Given the description of an element on the screen output the (x, y) to click on. 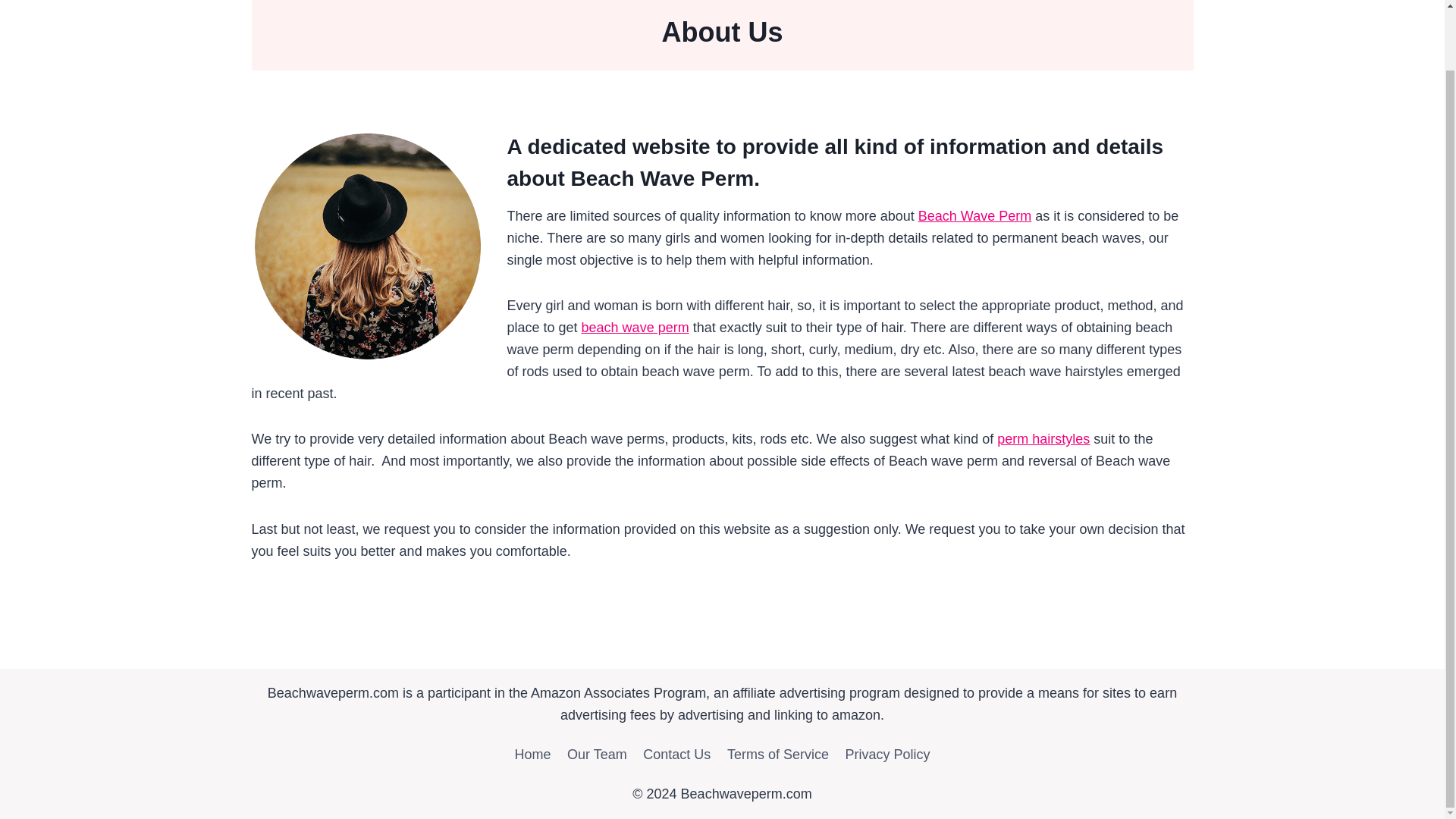
perm hairstyles (1043, 438)
Beach Wave Perm (974, 215)
Privacy Policy (888, 755)
Our Team (596, 755)
Contact Us (676, 755)
perm rod hair styles (1043, 438)
Beach Wave Perms - A Complete Guide (634, 327)
beach wave perm (634, 327)
Home (532, 755)
Terms of Service (778, 755)
